Given the description of an element on the screen output the (x, y) to click on. 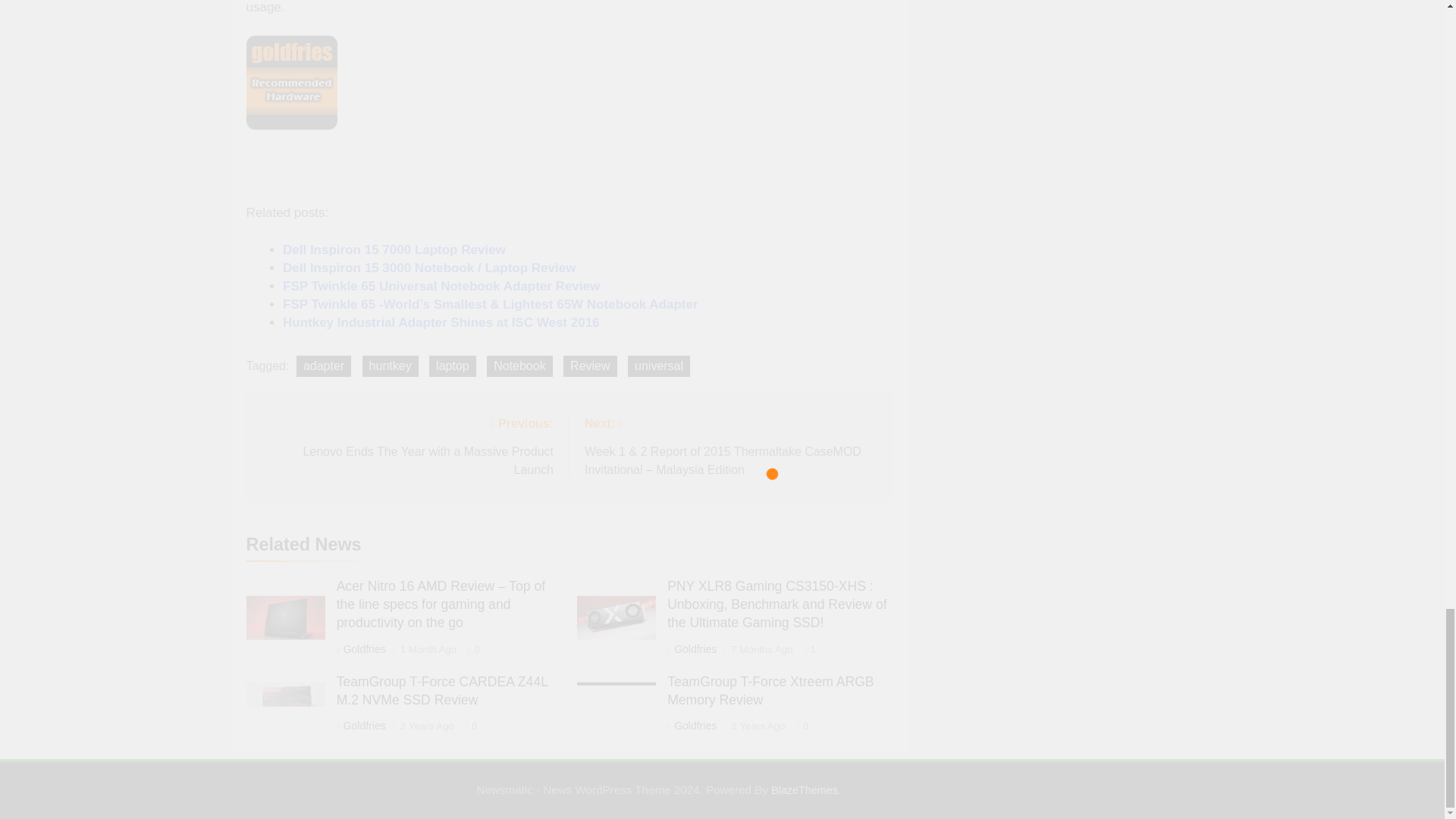
Notebook (519, 365)
Dell Inspiron 15 7000 Laptop Review (393, 249)
FSP Twinkle 65 Universal Notebook Adapter Review (440, 286)
Huntkey Industrial Adapter Shines at ISC West 2016 (440, 322)
FSP Twinkle 65 Universal Notebook Adapter Review (440, 286)
Huntkey Industrial Adapter Shines at ISC West 2016 (440, 322)
adapter (323, 365)
Goldfries (406, 444)
universal (363, 648)
